Given the description of an element on the screen output the (x, y) to click on. 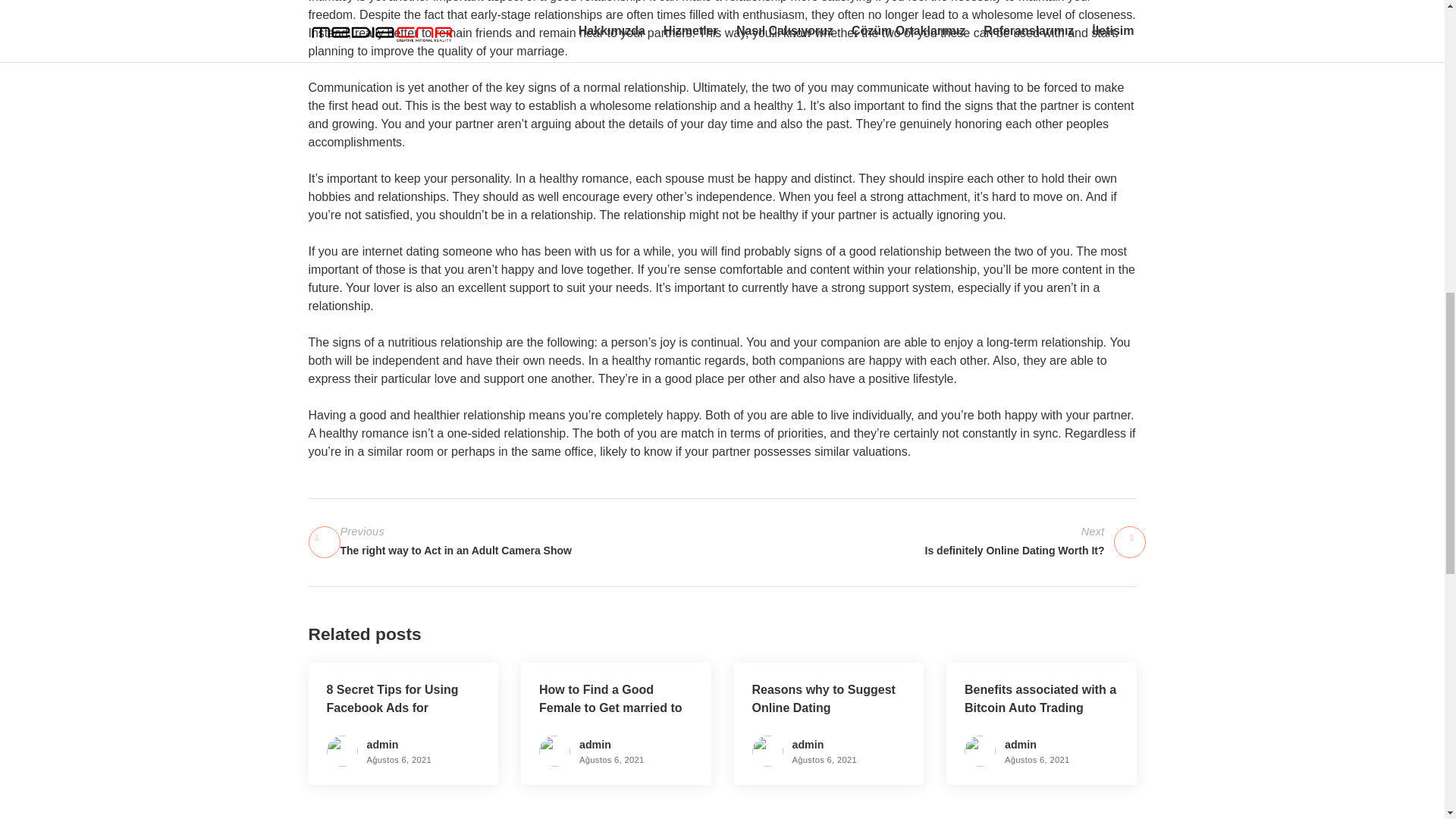
admin (808, 744)
Benefits associated with a Bitcoin Auto Trading System (1039, 707)
admin (595, 744)
Reasons why to Suggest Online Dating (823, 698)
admin (1020, 744)
How to Find a Good Female to Get married to (610, 698)
admin (928, 541)
8 Secret Tips for Using Facebook Ads for Ecommerce (382, 744)
